Given the description of an element on the screen output the (x, y) to click on. 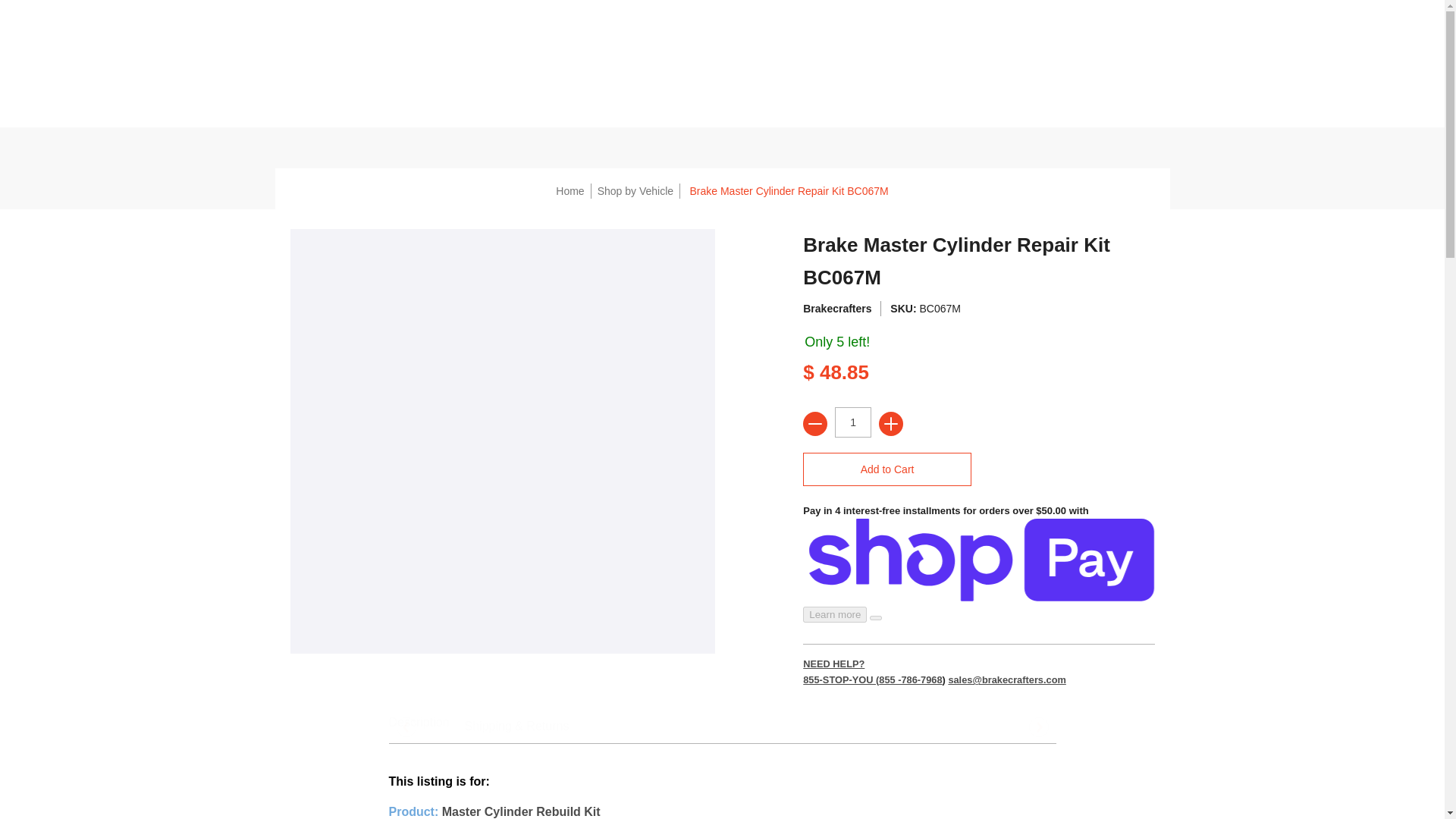
Add to Cart (887, 469)
1 (852, 422)
Shop by Vehicle (634, 191)
Home (569, 191)
Brakecrafters (836, 308)
